Given the description of an element on the screen output the (x, y) to click on. 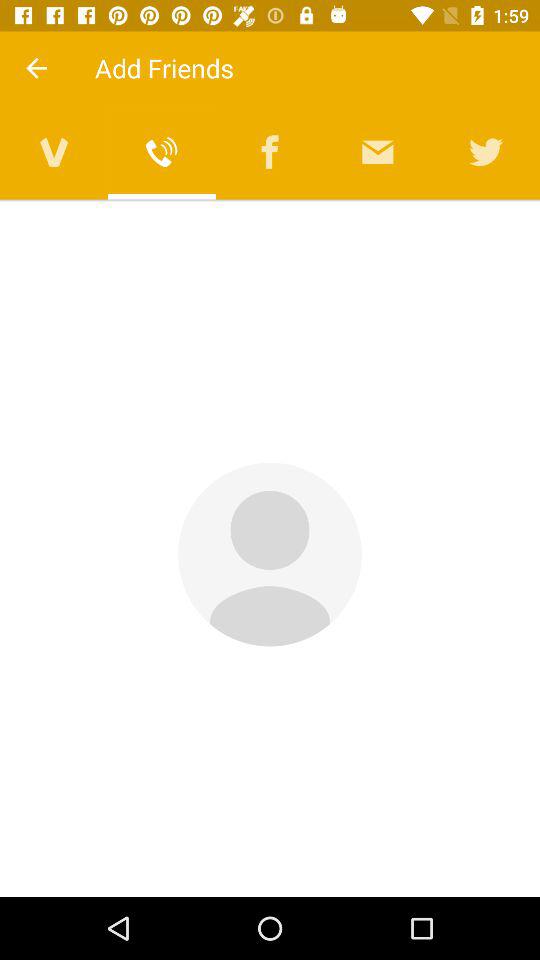
start video chat (54, 152)
